Given the description of an element on the screen output the (x, y) to click on. 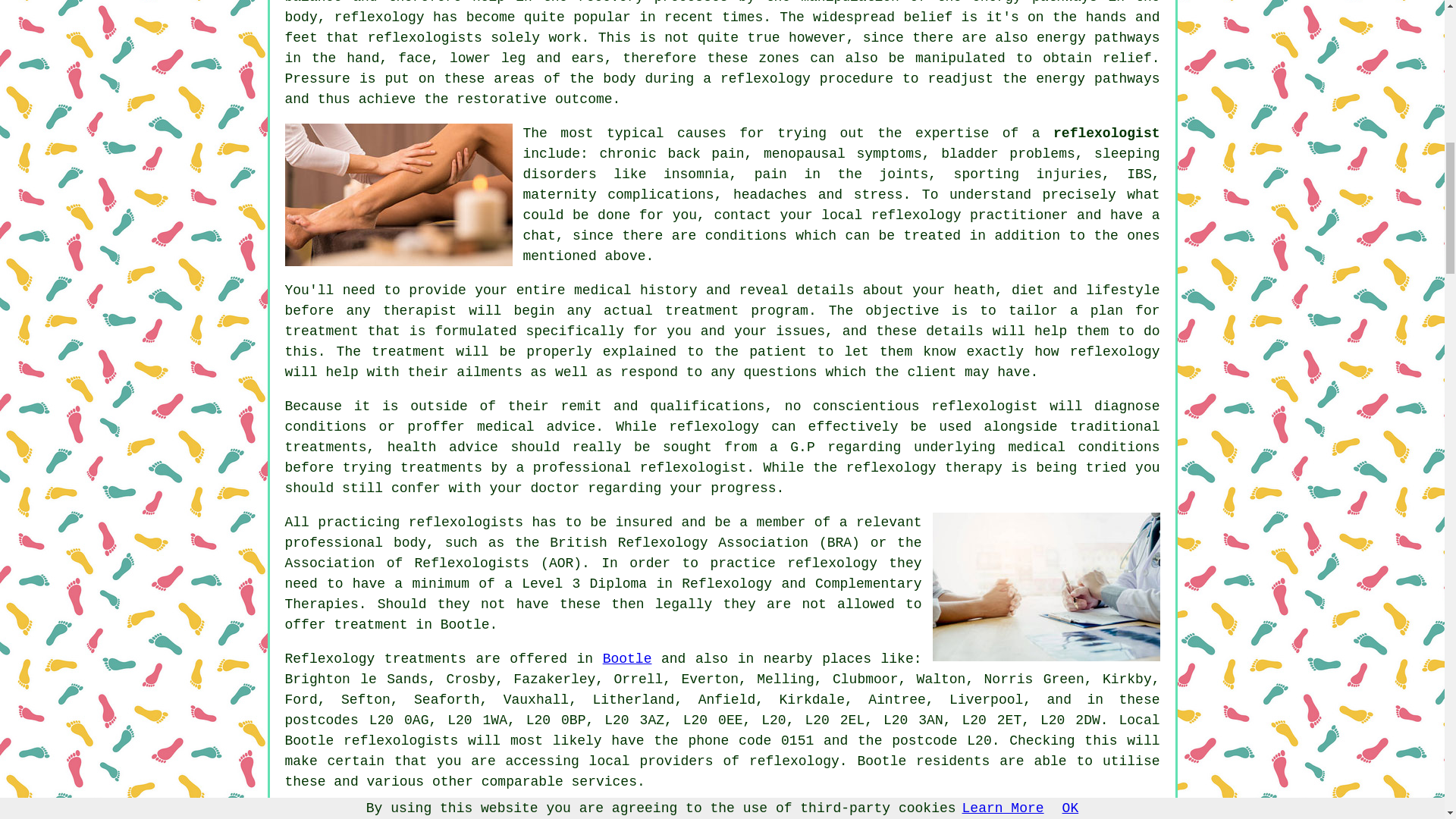
Doctor's Advice Bootle Merseyside (1046, 586)
reflexologist (1105, 133)
Complementary Therapies (603, 593)
Association of Reflexologists (407, 563)
reflexology (713, 426)
reflexology (1115, 351)
reflexologists (424, 37)
professional reflexologist (639, 467)
